Given the description of an element on the screen output the (x, y) to click on. 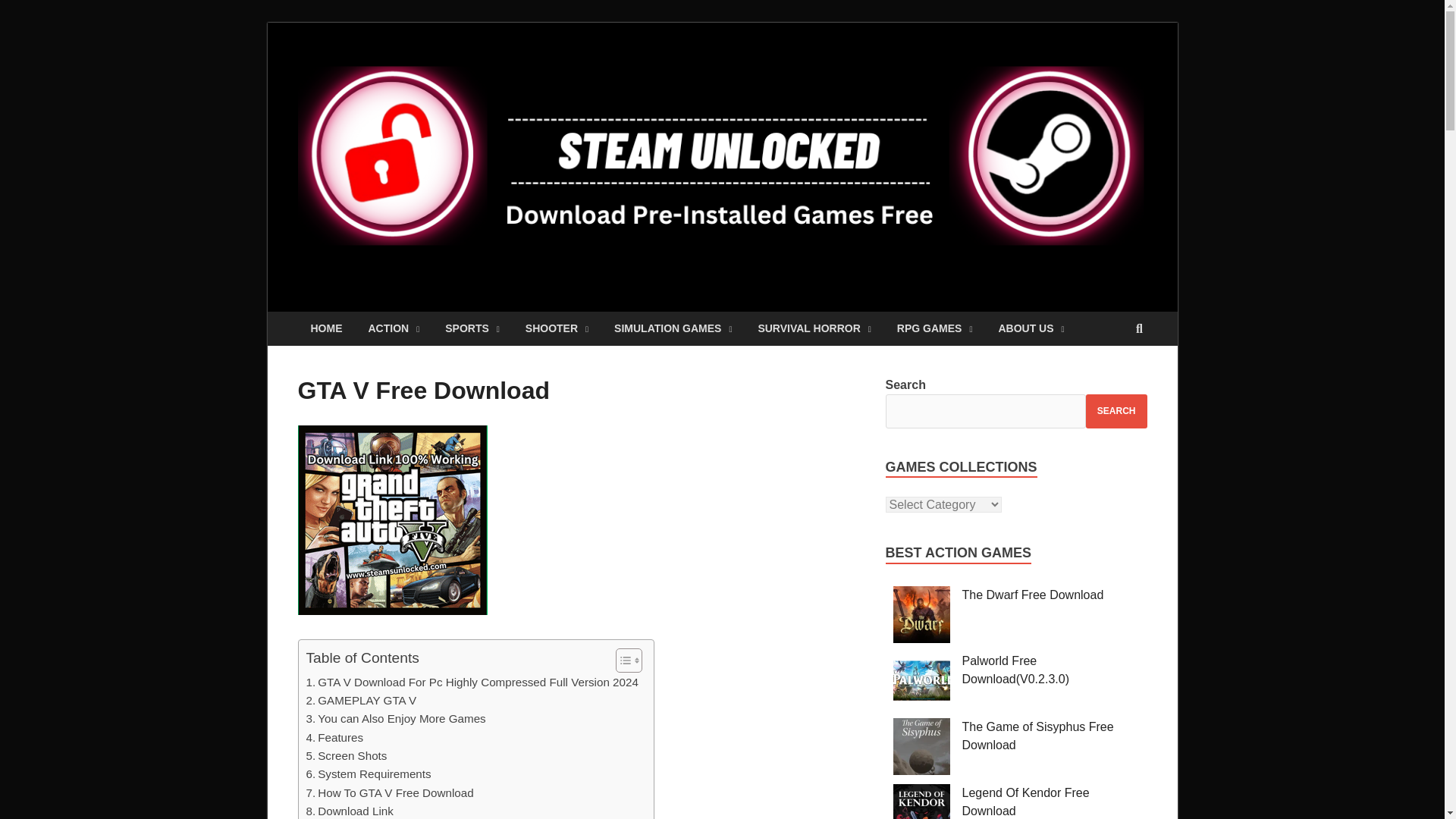
SHOOTER (556, 328)
SPORTS (472, 328)
GTA V Download For Pc Highly Compressed Full Version 2024 (472, 682)
RPG GAMES (934, 328)
Features (334, 737)
HOME (326, 328)
Download Link (349, 810)
How To GTA V Free Download (389, 792)
SIMULATION GAMES (672, 328)
GAMEPLAY GTA V  (360, 700)
SURVIVAL HORROR (813, 328)
You can Also Enjoy More Games (395, 719)
Screen Shots (346, 755)
System Requirements (367, 773)
ABOUT US (1031, 328)
